Given the description of an element on the screen output the (x, y) to click on. 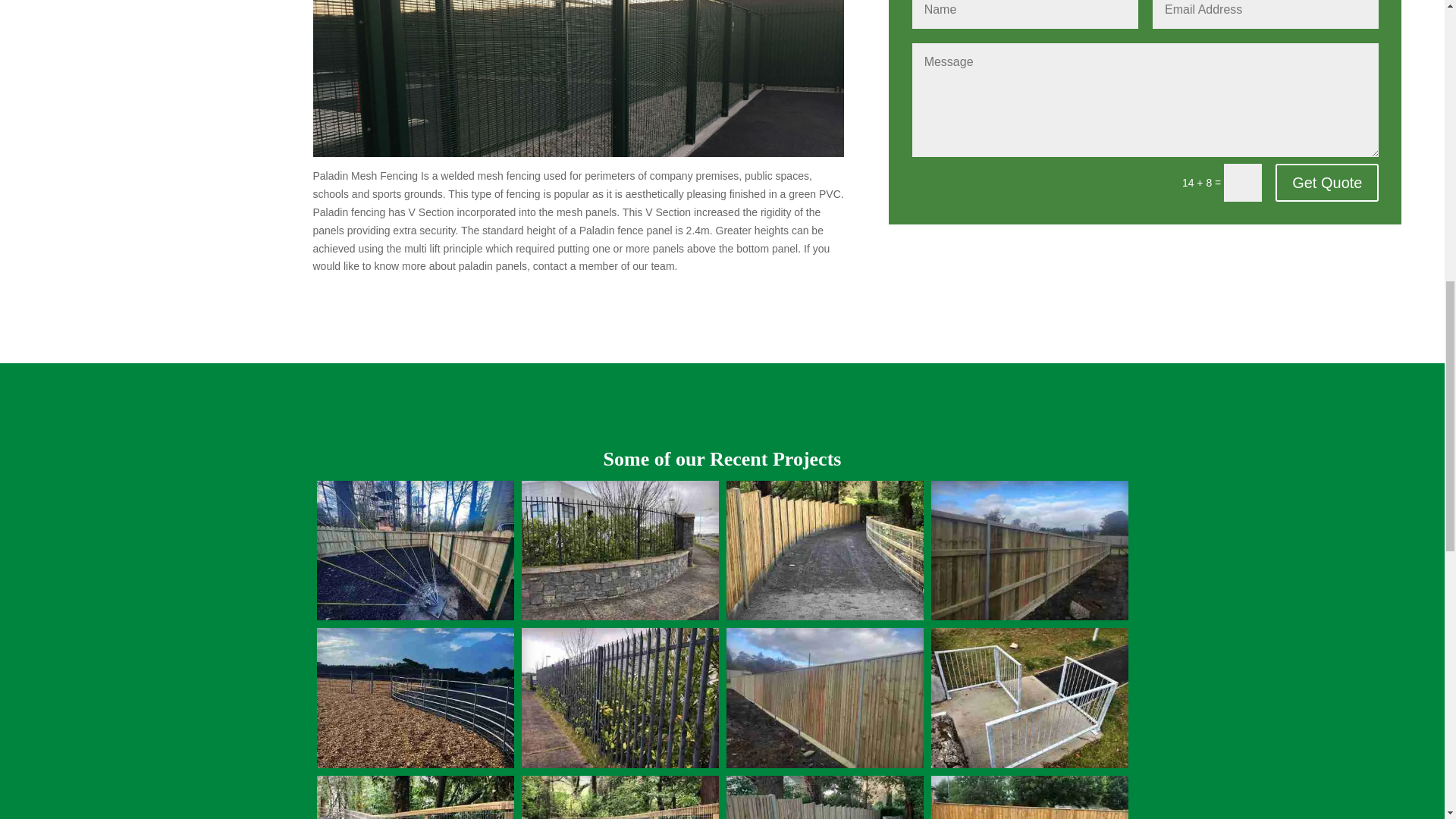
178050e9-4bae-492a-8b54-0095a206fadb (824, 616)
37c81026-b287-41b7-b1e2-0315311bca56 (824, 764)
85759a2d-93d8-4ff0-b515-920f464c3ab2 (1029, 764)
1ded2e2e-f067-45de-b737-51306624b692 (1029, 616)
safety-fencing (415, 616)
estate-fencing-ireland (415, 764)
6316113e-e92d-4866-a6e6-3b516051fba7 (620, 616)
faf28a51-bb8d-4bfc-973b-1a035f201381 (620, 764)
